Given the description of an element on the screen output the (x, y) to click on. 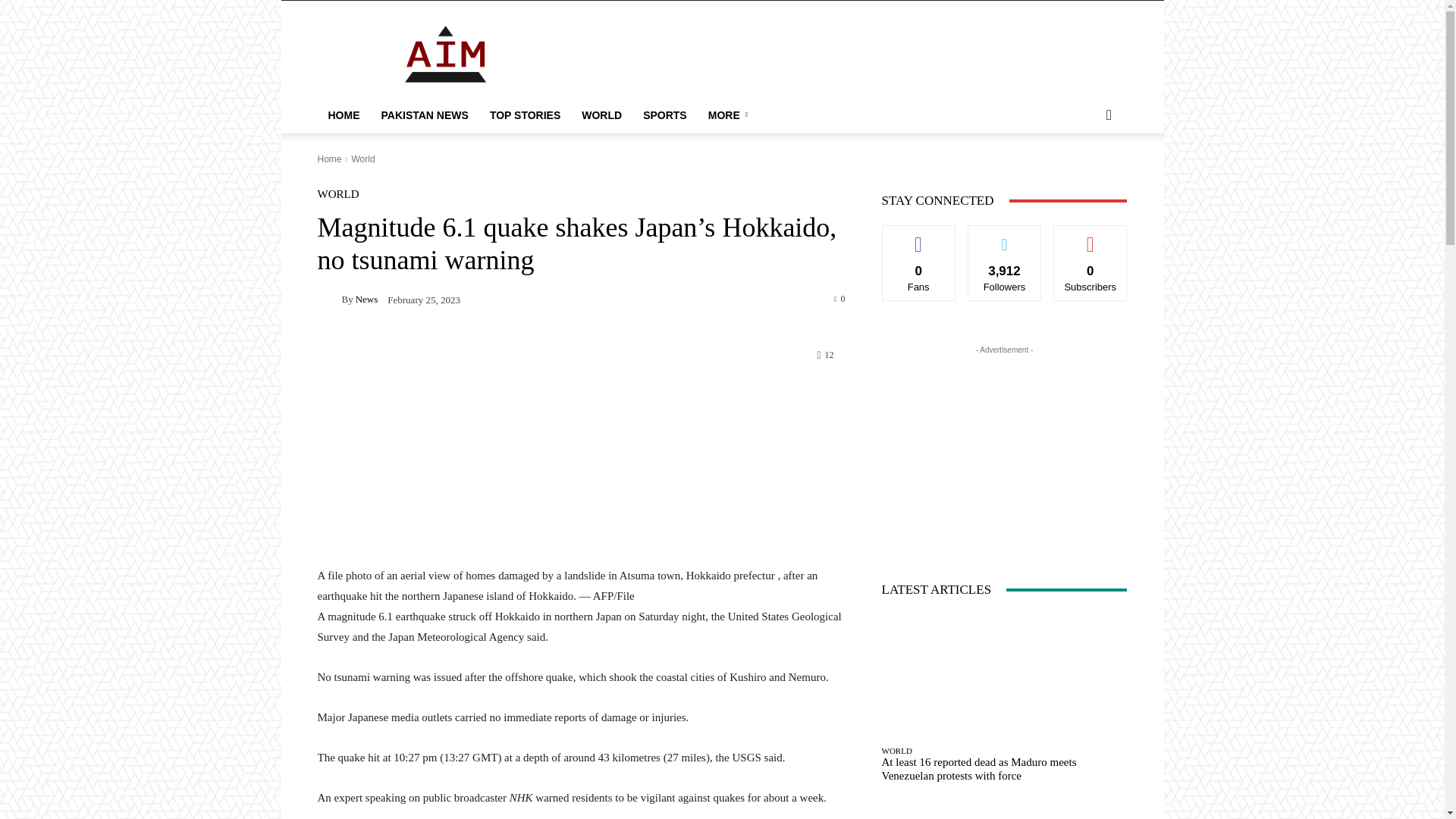
MORE (729, 115)
0 (839, 297)
HOME (343, 115)
News (328, 298)
World (362, 158)
SPORTS (664, 115)
News (366, 298)
Home (328, 158)
WORLD (600, 115)
PAKISTAN NEWS (424, 115)
WORLD (337, 194)
Search (1085, 175)
TOP STORIES (524, 115)
View all posts in World (362, 158)
